Given the description of an element on the screen output the (x, y) to click on. 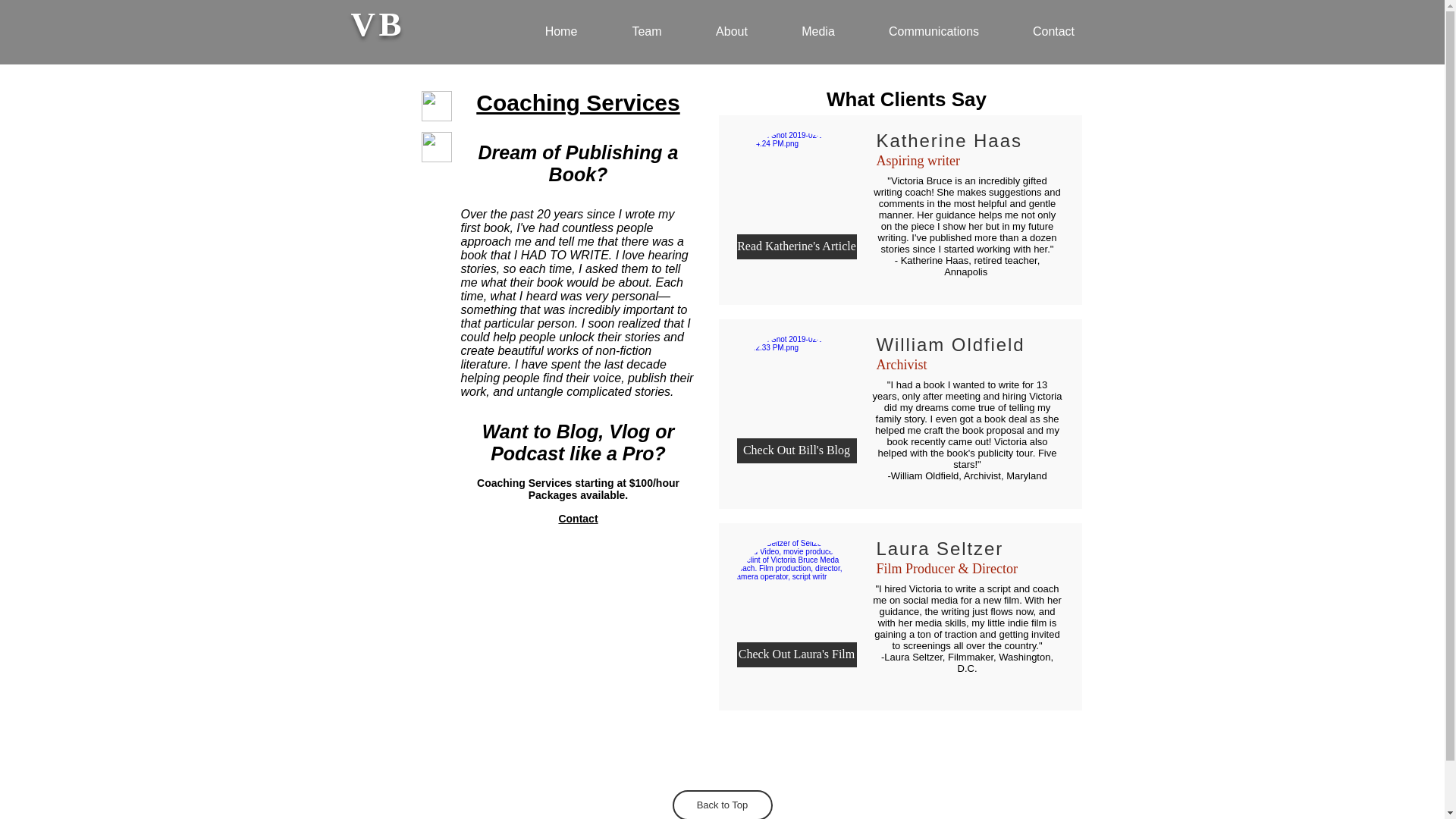
Media (817, 24)
Read Katherine's Article (796, 246)
Contact (1053, 24)
Check Out Laura's Film (796, 654)
Communications (933, 24)
Check Out Bill's Blog (796, 450)
Team (646, 24)
Coaching Services (577, 102)
About (731, 24)
VB (377, 23)
Home (560, 24)
